Given the description of an element on the screen output the (x, y) to click on. 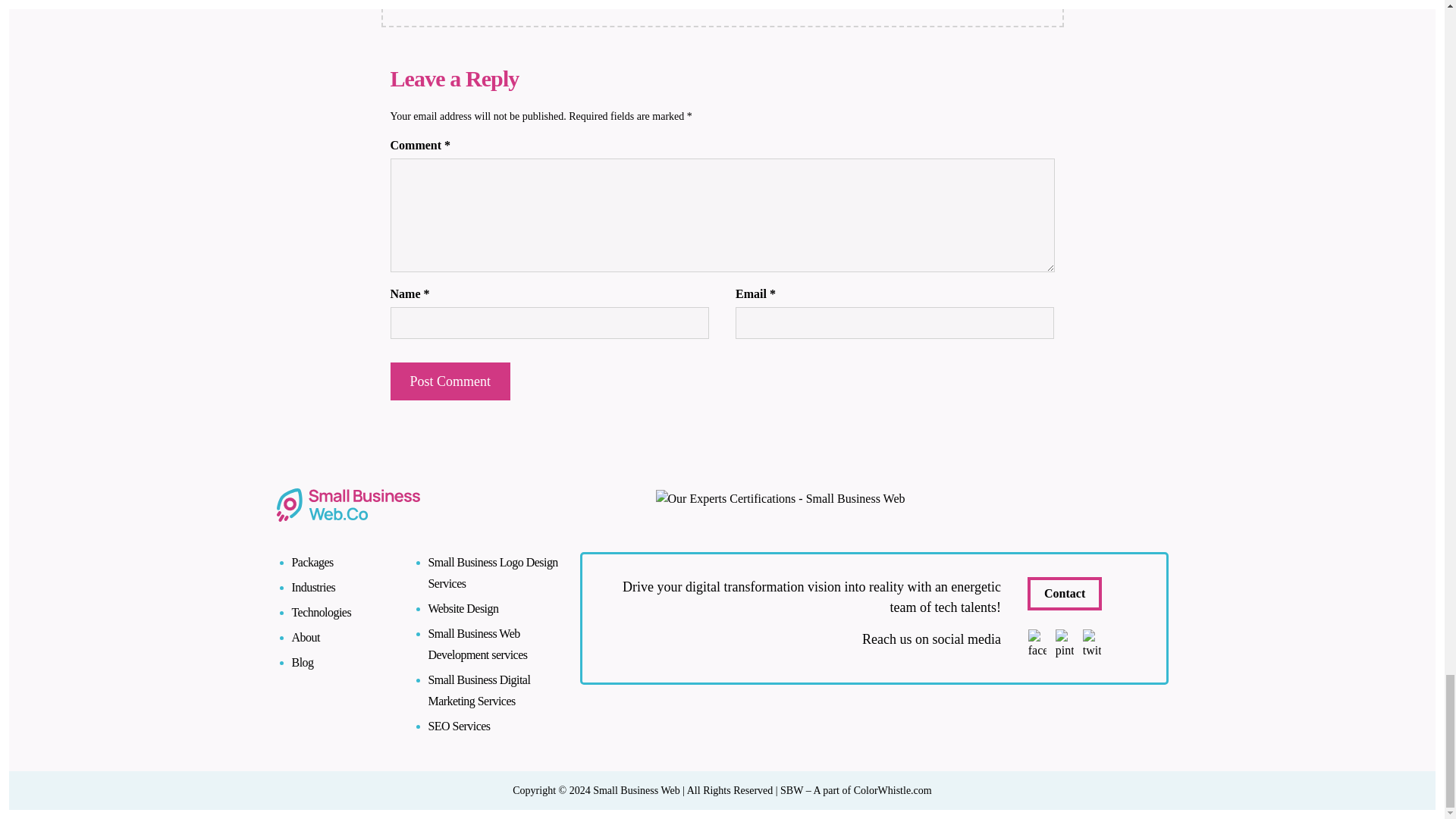
Our Experts Certifications - Small Business Web (779, 498)
facebook (1036, 644)
pinterest (1064, 644)
Post Comment (450, 381)
twitter (1091, 644)
